Given the description of an element on the screen output the (x, y) to click on. 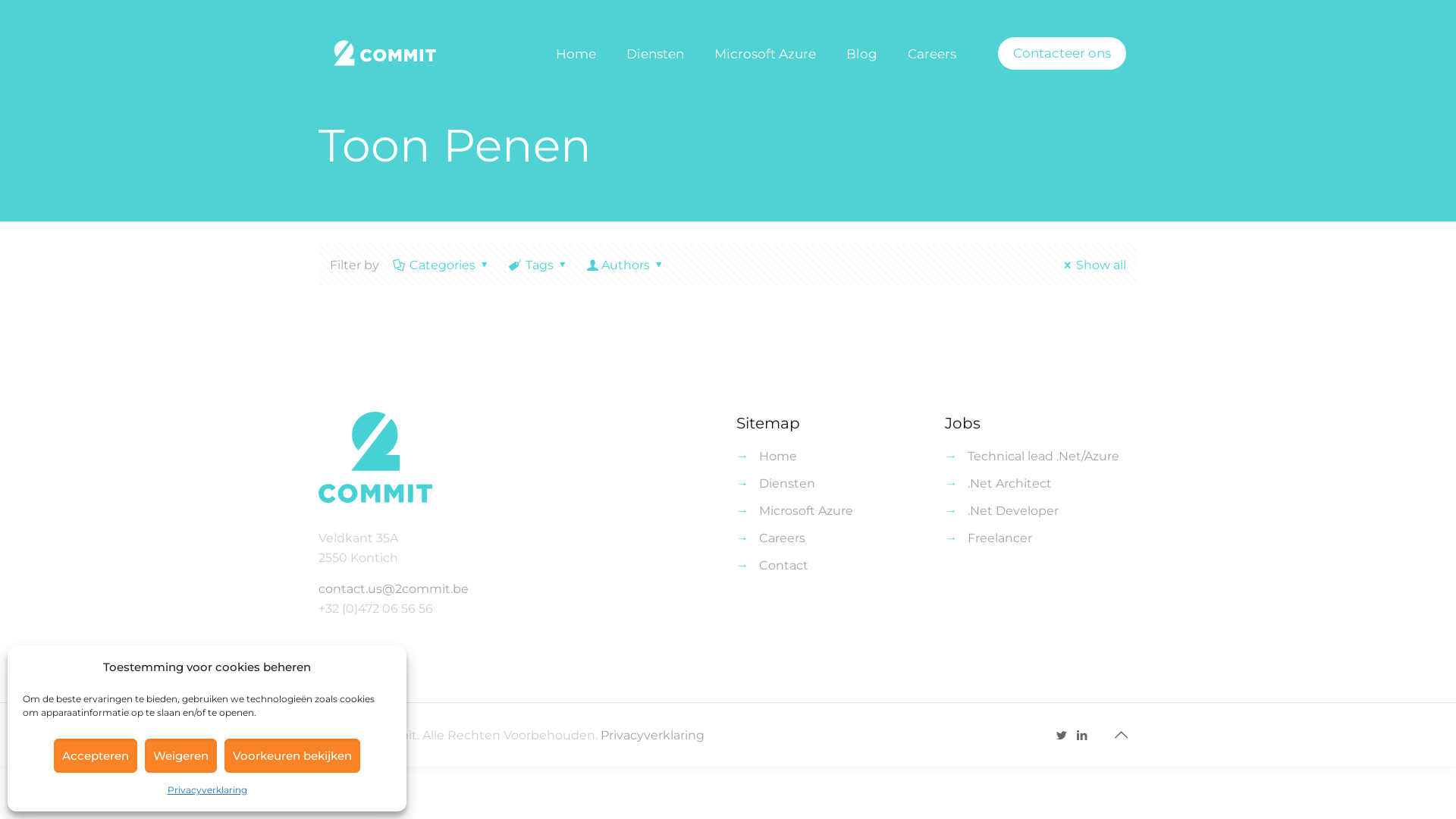
Home Element type: text (575, 53)
Voorkeuren bekijken Element type: text (292, 755)
LinkedIn Element type: hover (1082, 735)
Twitter Element type: hover (1062, 735)
Diensten Element type: text (655, 53)
Microsoft Azure Element type: text (806, 510)
Show all Element type: text (1092, 264)
Contacteer ons Element type: text (1061, 53)
Diensten Element type: text (787, 483)
Freelancer Element type: text (999, 537)
Privacyverklaring Element type: text (206, 790)
Careers Element type: text (782, 537)
Technical lead .Net/Azure Element type: text (1043, 455)
2commit Element type: hover (390, 53)
Authors Element type: text (625, 264)
.Net Architect Element type: text (1009, 483)
Tags Element type: text (539, 264)
Careers Element type: text (931, 53)
Blog Element type: text (861, 53)
.Net Developer Element type: text (1012, 510)
contact.us@2commit.be Element type: text (393, 588)
Microsoft Azure Element type: text (765, 53)
Contact Element type: text (783, 565)
Privacyverklaring Element type: text (652, 735)
Categories Element type: text (442, 264)
Accepteren Element type: text (95, 755)
Weigeren Element type: text (180, 755)
Home Element type: text (778, 455)
